Given the description of an element on the screen output the (x, y) to click on. 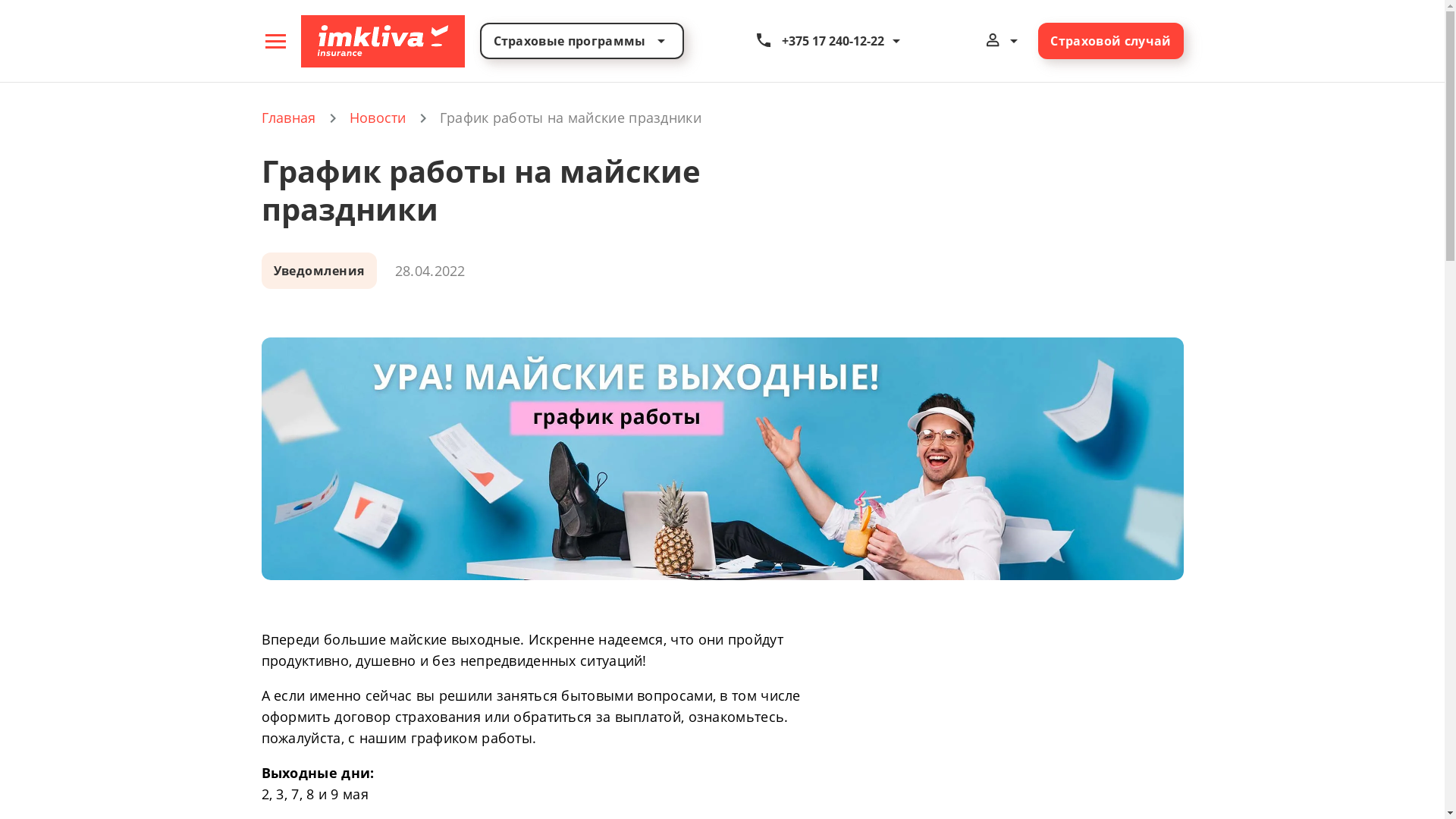
+375 17 240-12-22 Element type: text (829, 40)
